Given the description of an element on the screen output the (x, y) to click on. 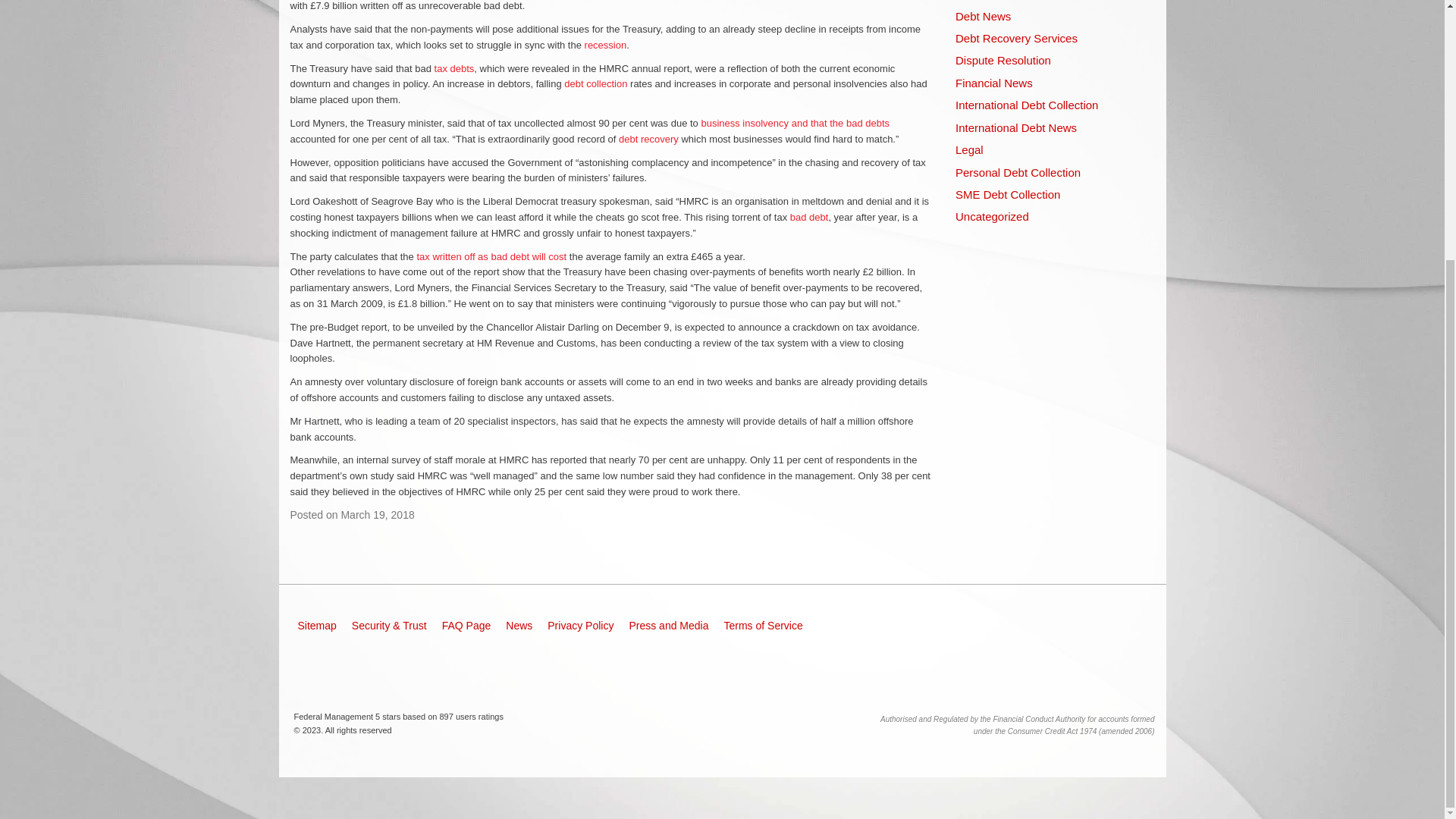
debt recovery (648, 138)
business insolvency and that the bad debts (794, 122)
Investors in People (1123, 631)
bad debt (809, 216)
Twitter Icon (369, 665)
Information Commissioner's Office Website (991, 631)
YouTube Icon (420, 665)
recession (606, 44)
tax debts (453, 68)
Five Stars on Trust Pilot (931, 678)
Facebook Icon (318, 665)
debt collection (595, 83)
Credit Services Association Website (1064, 631)
LinkedIn Icon (472, 665)
